Given the description of an element on the screen output the (x, y) to click on. 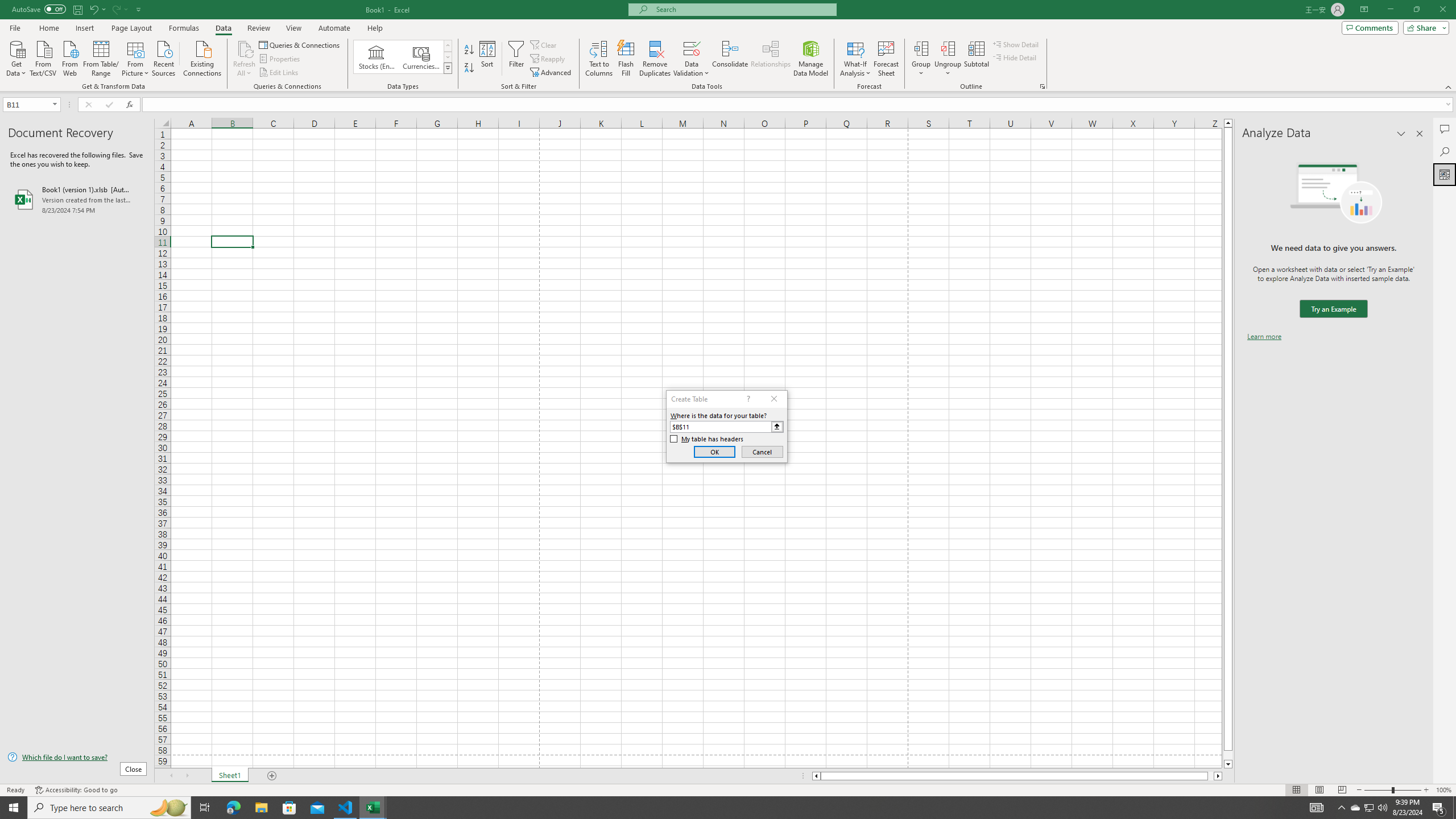
Remove Duplicates (654, 58)
Consolidate... (729, 58)
